Given the description of an element on the screen output the (x, y) to click on. 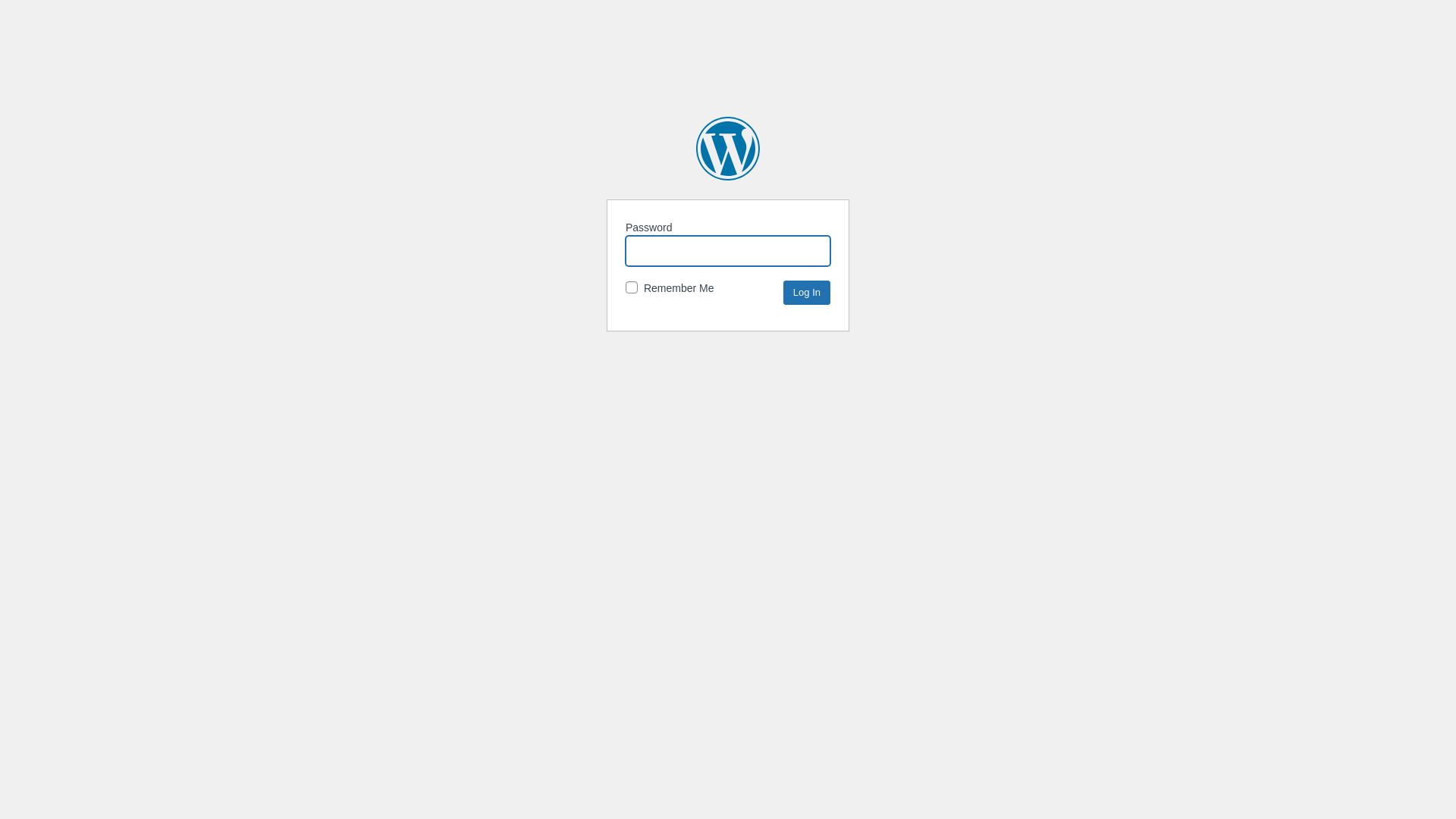
Aurora Project Element type: text (727, 148)
Log In Element type: text (806, 292)
